Given the description of an element on the screen output the (x, y) to click on. 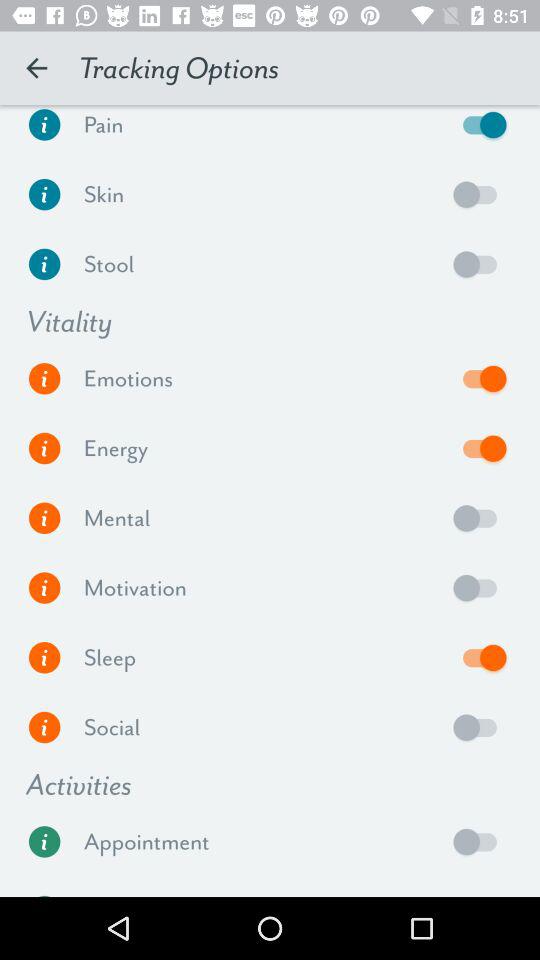
info about motivation (44, 587)
